Given the description of an element on the screen output the (x, y) to click on. 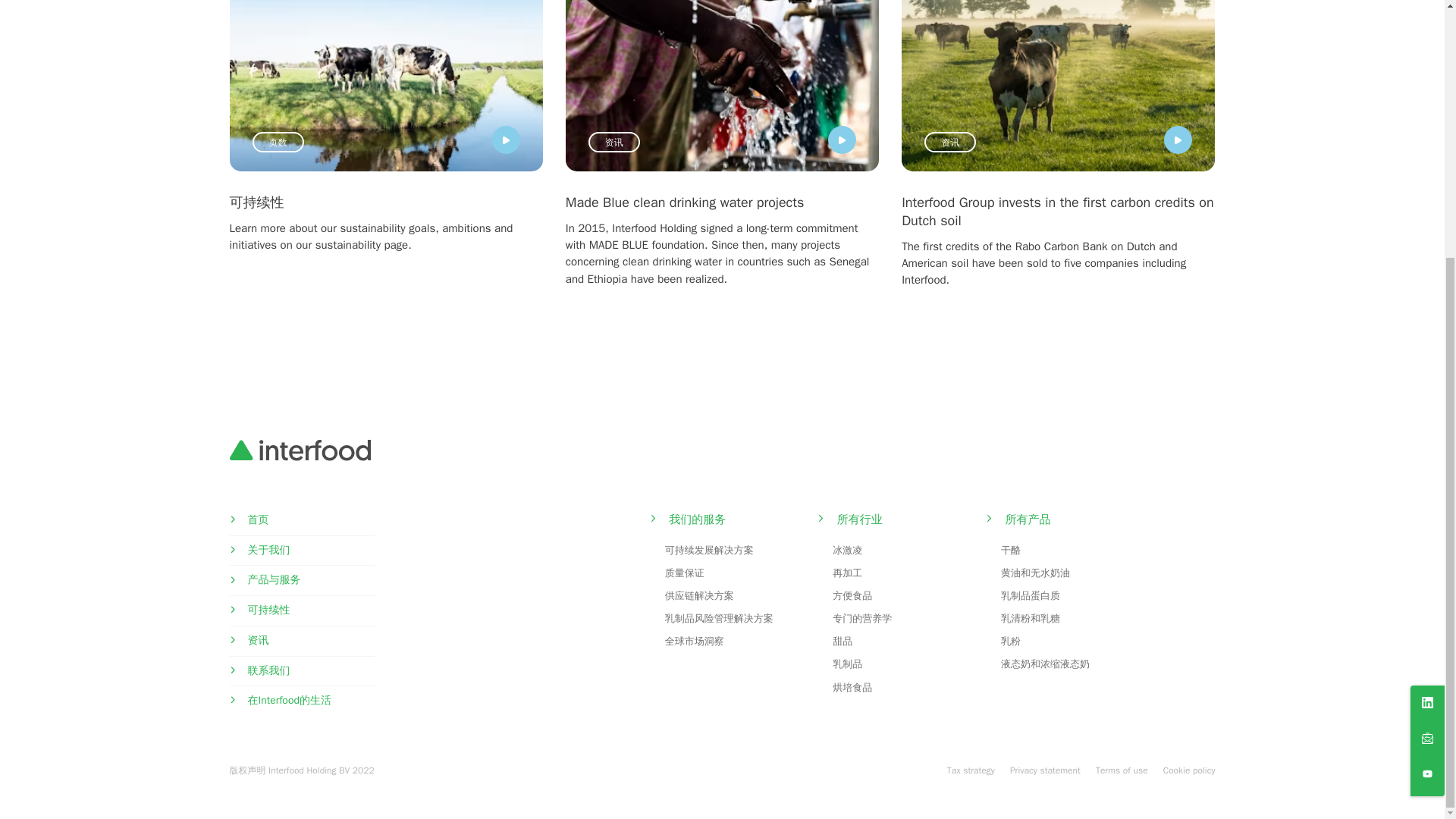
Sign up for our newsletter (1427, 373)
YouTube (1427, 409)
LinkedIn (1427, 337)
